Given the description of an element on the screen output the (x, y) to click on. 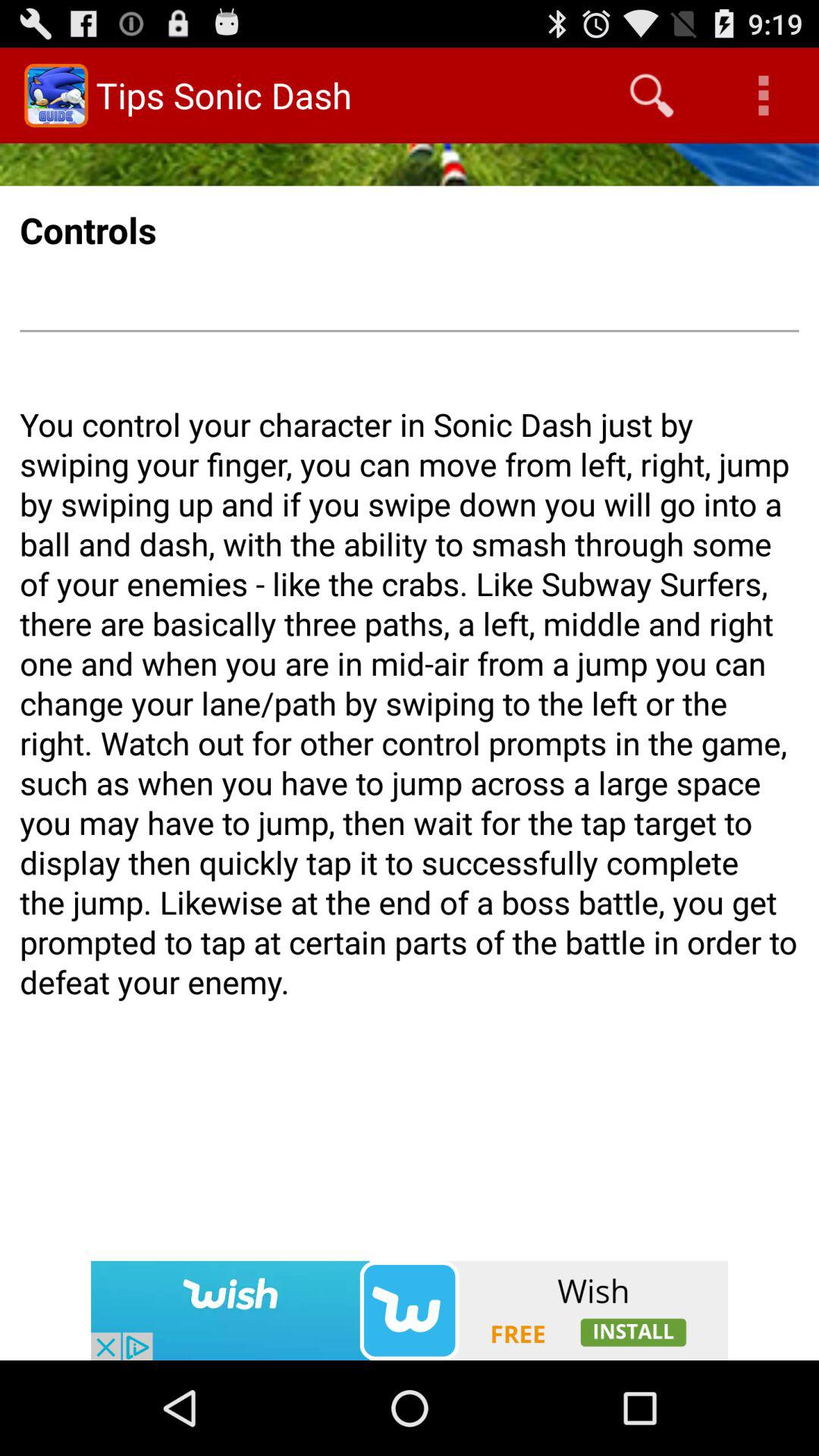
turn on the icon next to the tips sonic dash app (651, 95)
